Given the description of an element on the screen output the (x, y) to click on. 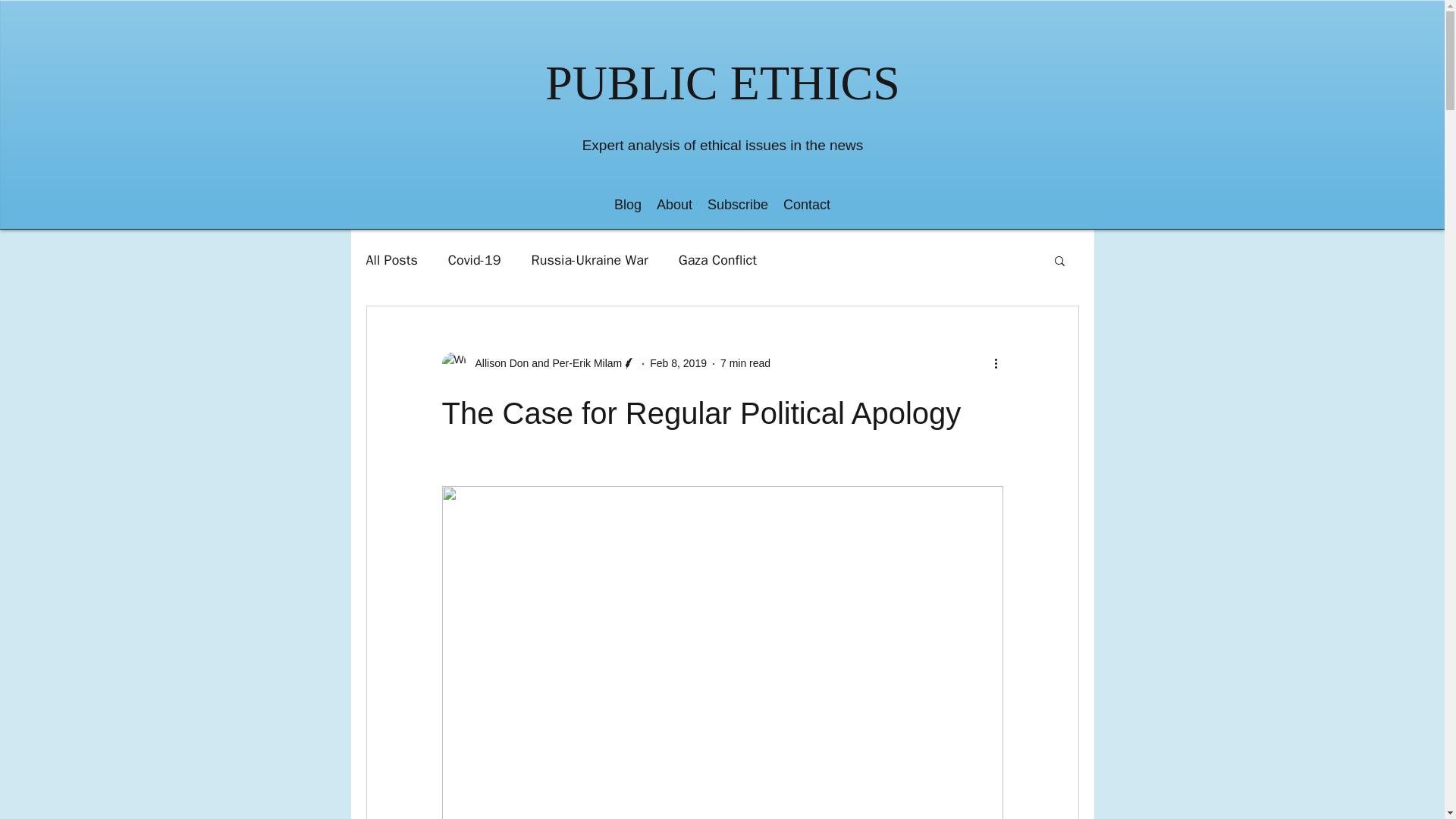
Russia-Ukraine War (589, 259)
Blog (628, 204)
Subscribe (738, 204)
7 min read (745, 363)
Allison Don and Per-Erik Milam (543, 363)
About (674, 204)
PUBLIC ETHICS (721, 82)
Gaza Conflict (717, 259)
Feb 8, 2019 (677, 363)
Contact (807, 204)
Covid-19 (474, 259)
All Posts (390, 259)
